Given the description of an element on the screen output the (x, y) to click on. 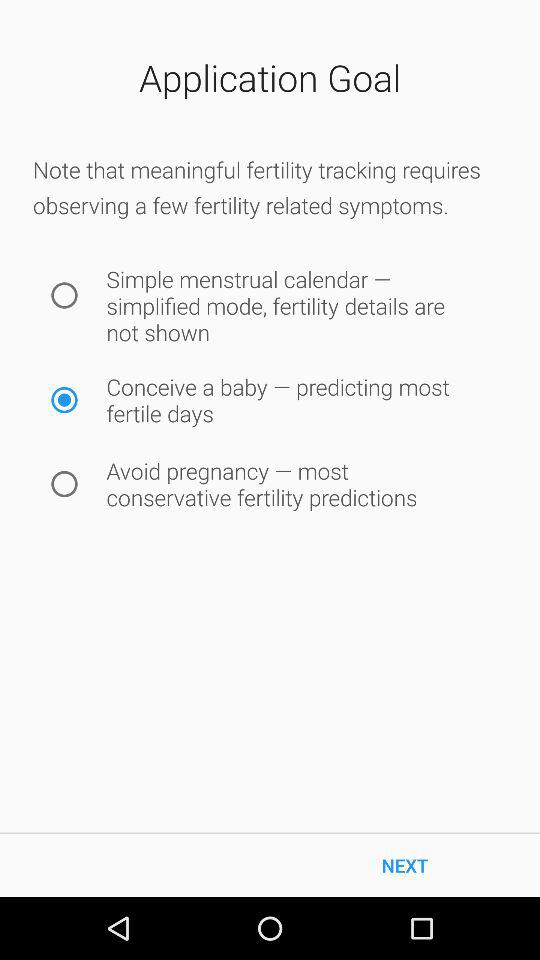
select response (64, 483)
